Given the description of an element on the screen output the (x, y) to click on. 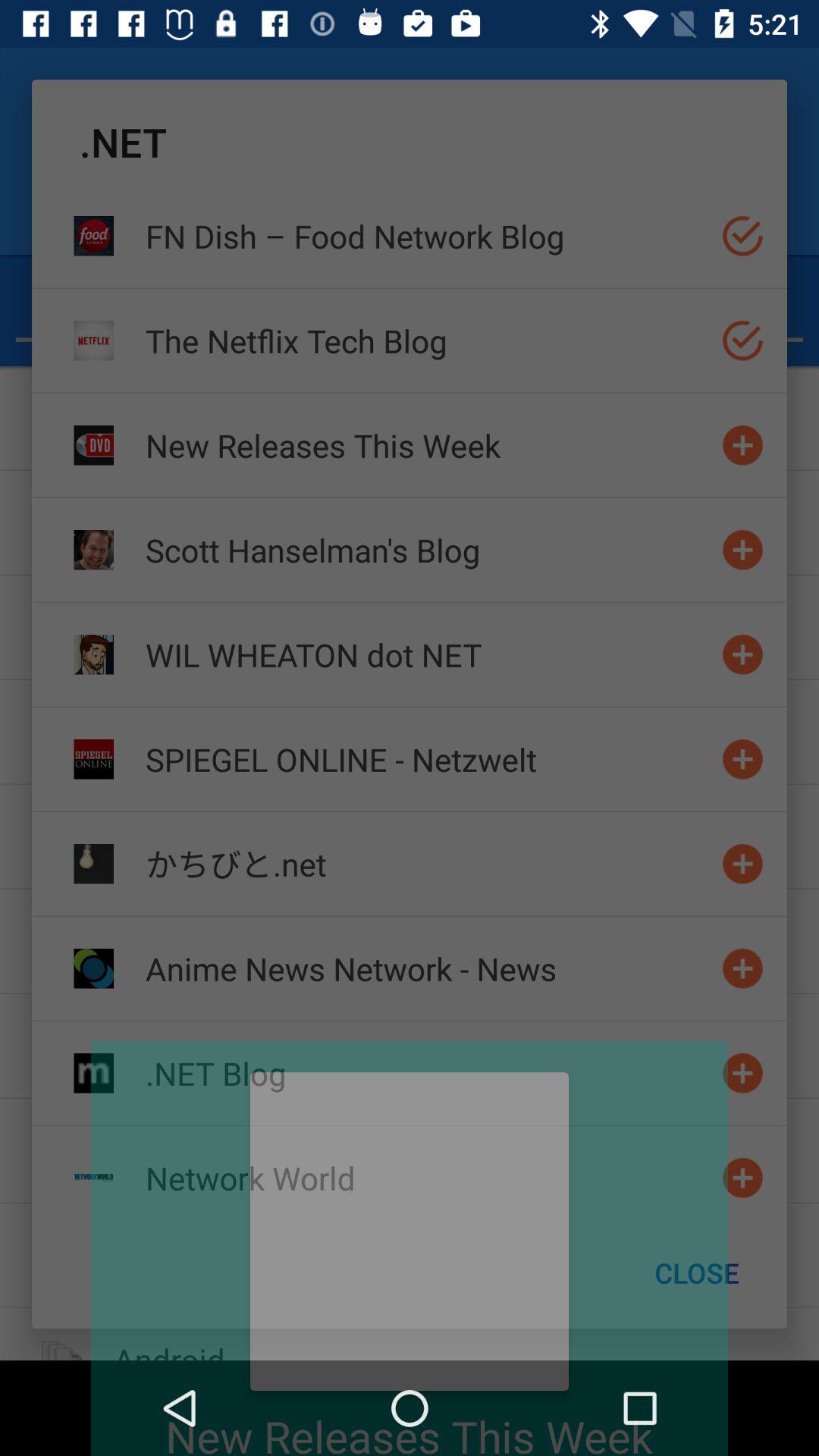
add new news source (742, 445)
